Given the description of an element on the screen output the (x, y) to click on. 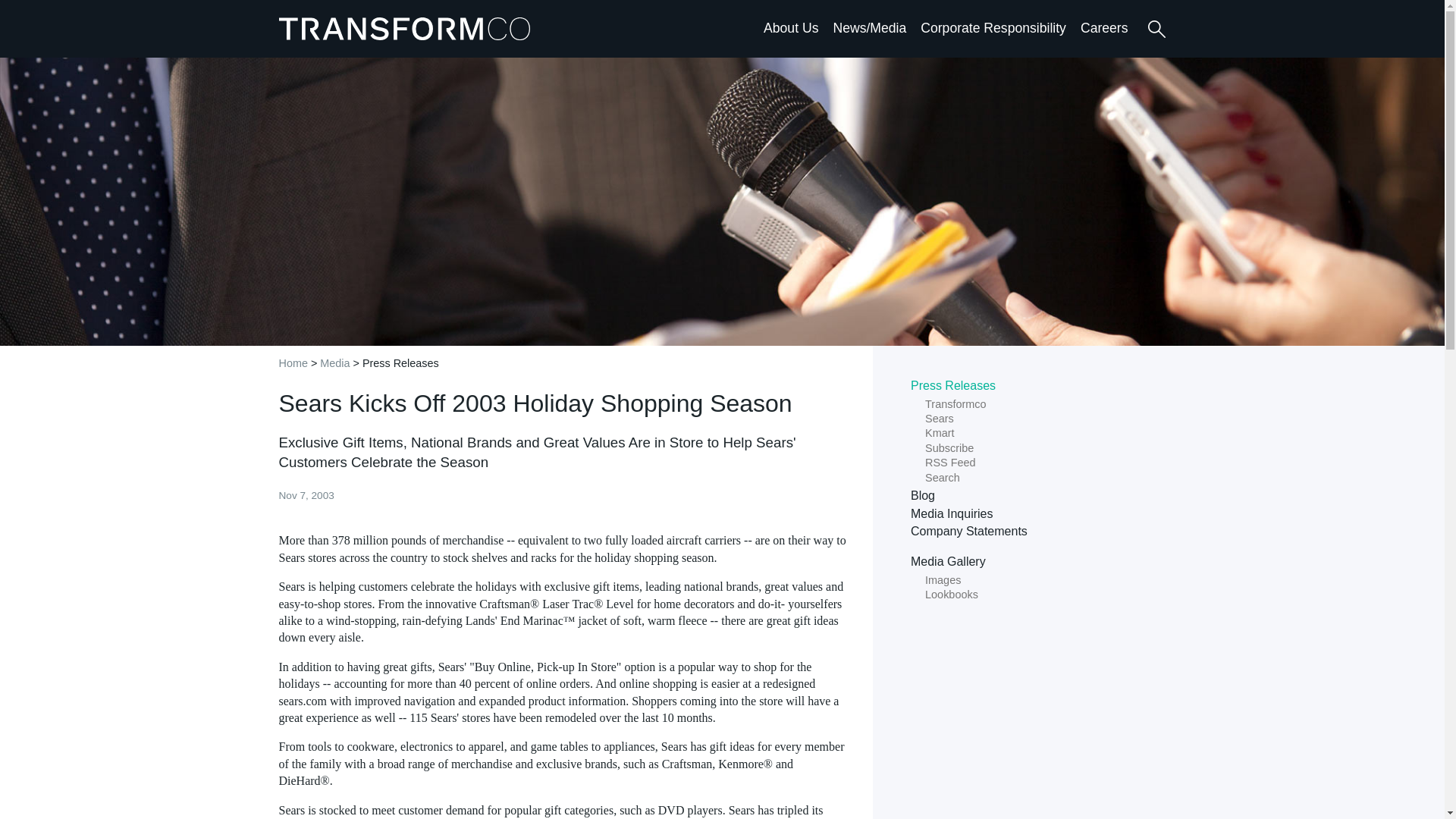
About Us (790, 28)
Transformco (408, 28)
Search (1156, 28)
Transformco (408, 28)
Corporate Responsibility (993, 28)
